Given the description of an element on the screen output the (x, y) to click on. 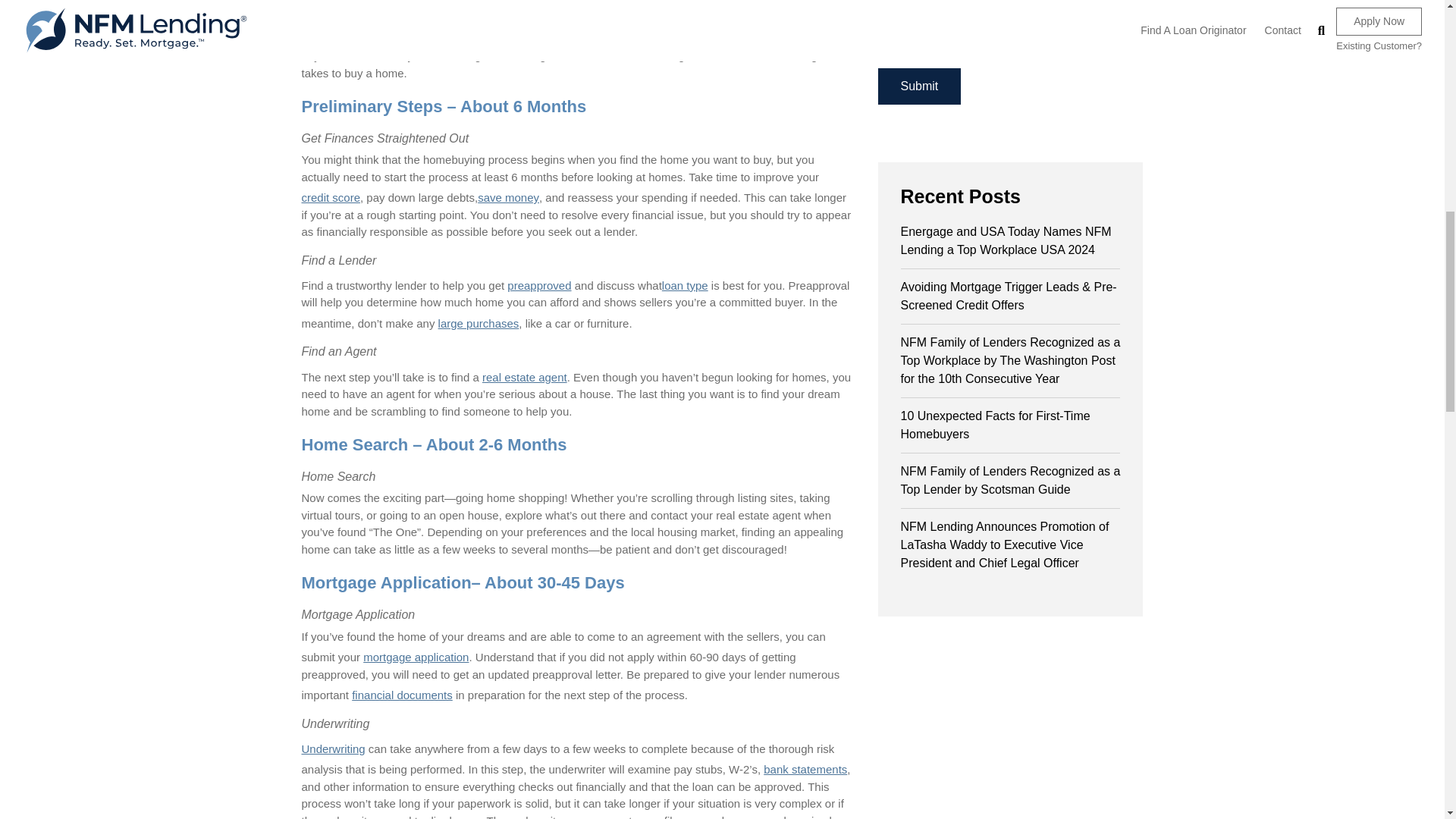
Submit (918, 85)
